Given the description of an element on the screen output the (x, y) to click on. 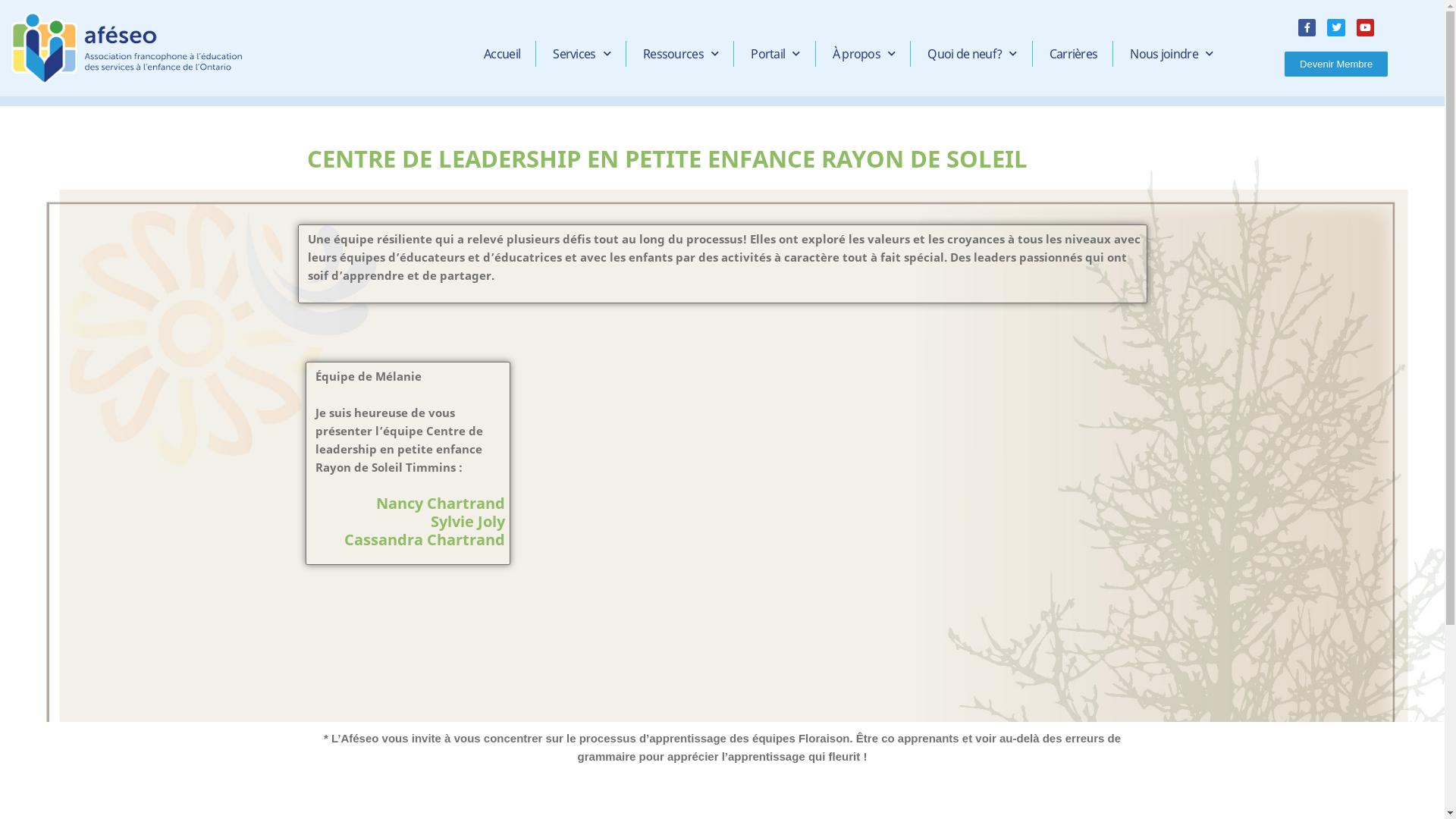
Accueil Element type: text (502, 53)
Ressources Element type: text (680, 53)
Quoi de neuf? Element type: text (972, 53)
Facebook-f Element type: text (1306, 27)
Services Element type: text (581, 53)
AFESEO new logo 2 Element type: hover (127, 47)
Devenir Membre Element type: text (1335, 63)
Nous joindre Element type: text (1170, 53)
Twitter Element type: text (1335, 27)
Youtube Element type: text (1365, 27)
Portail Element type: text (775, 53)
